Given the description of an element on the screen output the (x, y) to click on. 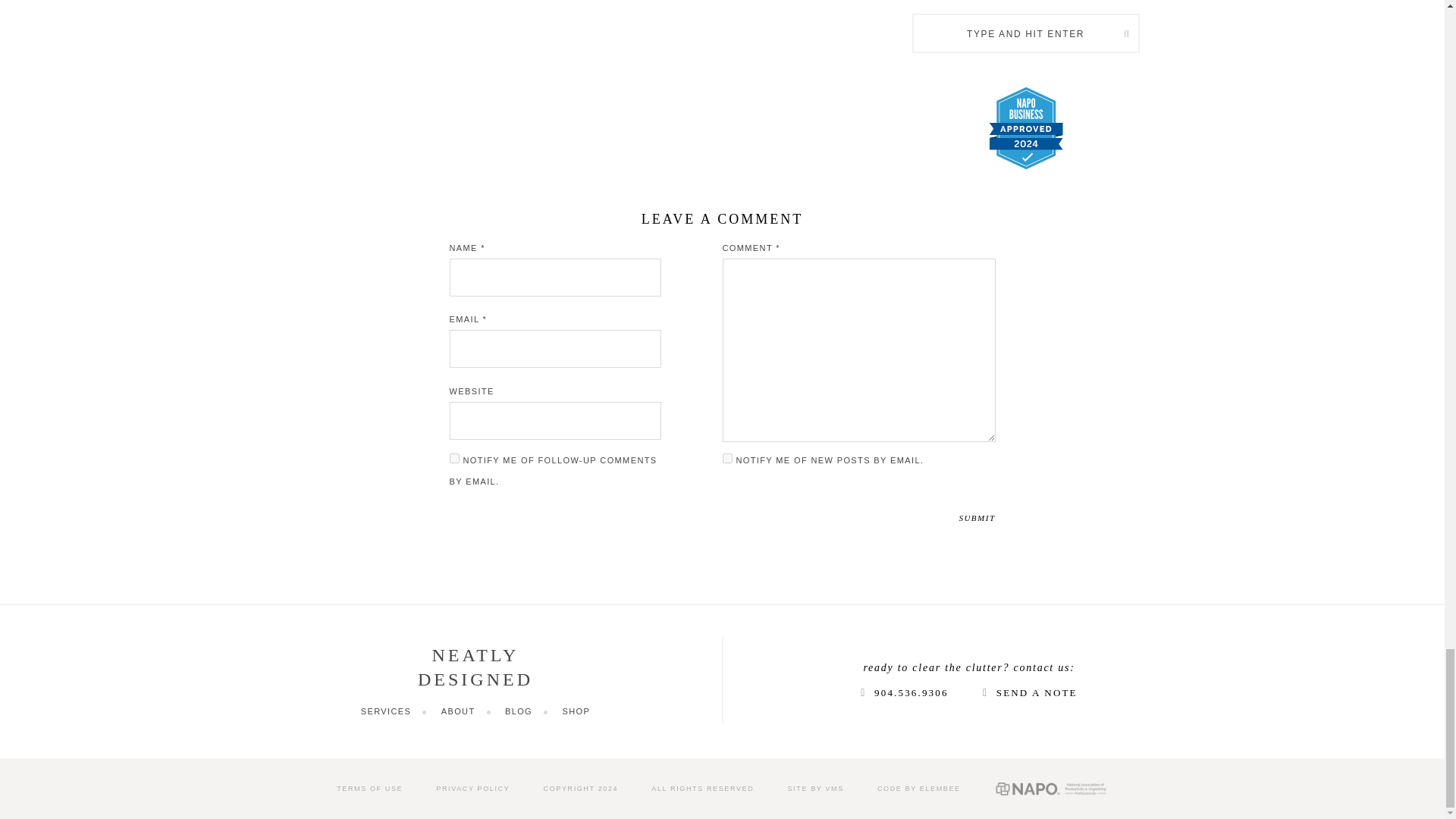
Type and hit enter (1025, 33)
Type and hit enter (1025, 33)
Submit (976, 518)
subscribe (453, 458)
subscribe (727, 458)
